Given the description of an element on the screen output the (x, y) to click on. 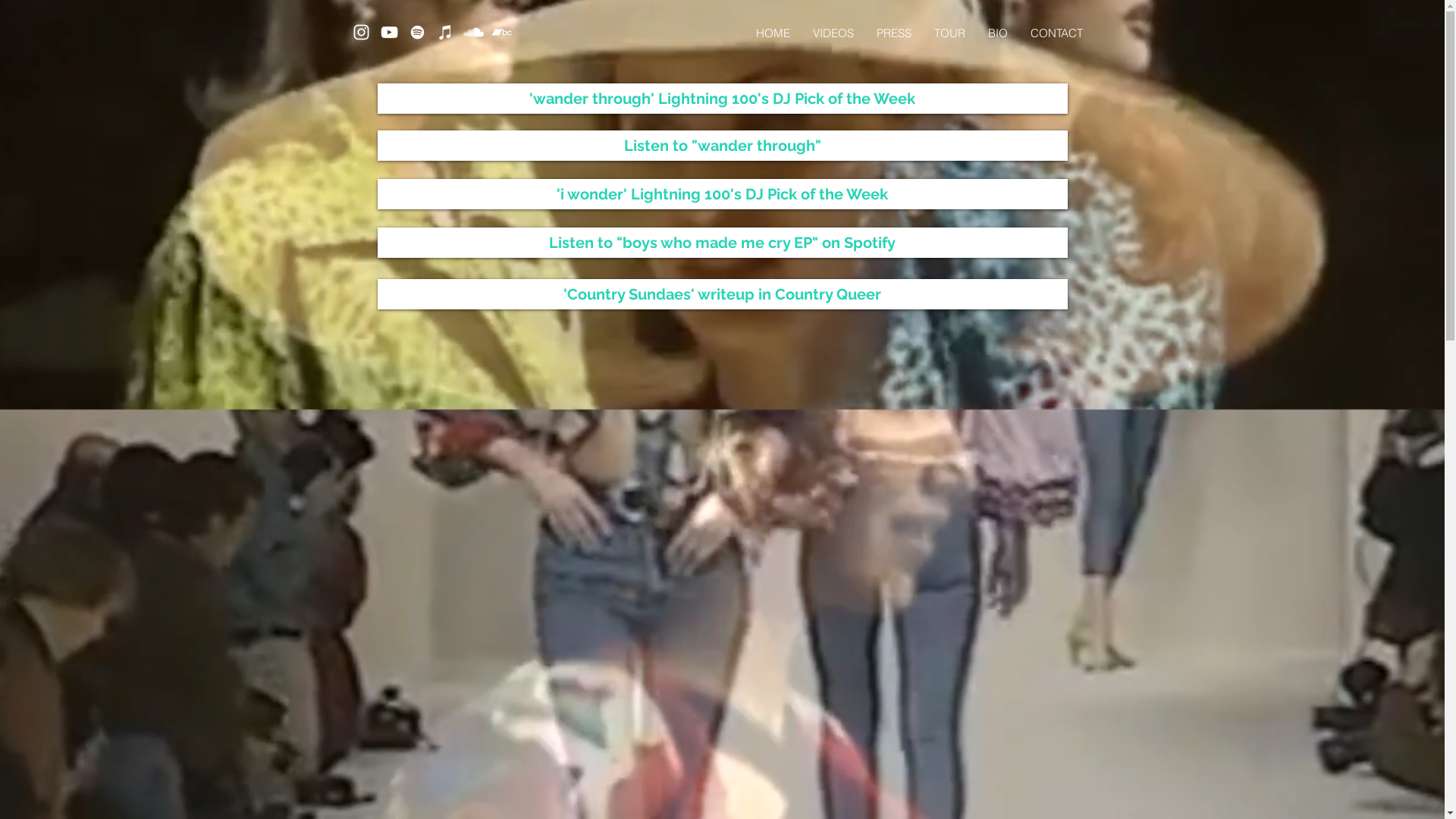
'i wonder' Lightning 100's DJ Pick of the Week Element type: text (722, 193)
TOUR Element type: text (948, 32)
PRESS Element type: text (893, 32)
CONTACT Element type: text (1056, 32)
'Country Sundaes' writeup in Country Queer Element type: text (722, 294)
Listen to "boys who made me cry EP" on Spotify Element type: text (722, 242)
VIDEOS Element type: text (832, 32)
BIO Element type: text (997, 32)
'wander through' Lightning 100's DJ Pick of the Week Element type: text (722, 98)
HOME Element type: text (772, 32)
Listen to "wander through" Element type: text (722, 145)
